Given the description of an element on the screen output the (x, y) to click on. 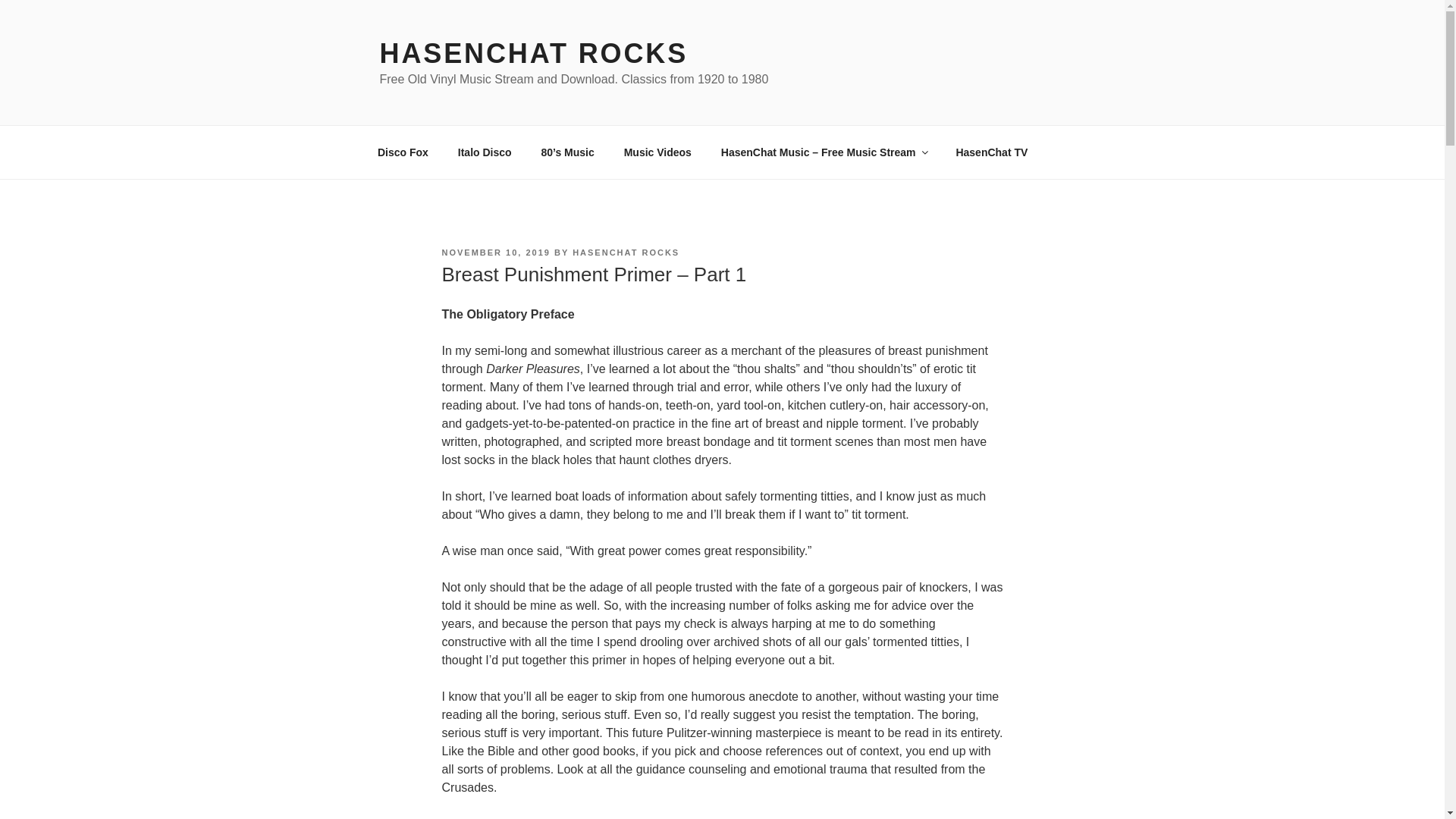
HASENCHAT ROCKS (625, 252)
Italo Disco (484, 151)
Disco Fox (402, 151)
HasenChat TV (991, 151)
Music Videos (657, 151)
NOVEMBER 10, 2019 (495, 252)
HASENCHAT ROCKS (532, 52)
